Given the description of an element on the screen output the (x, y) to click on. 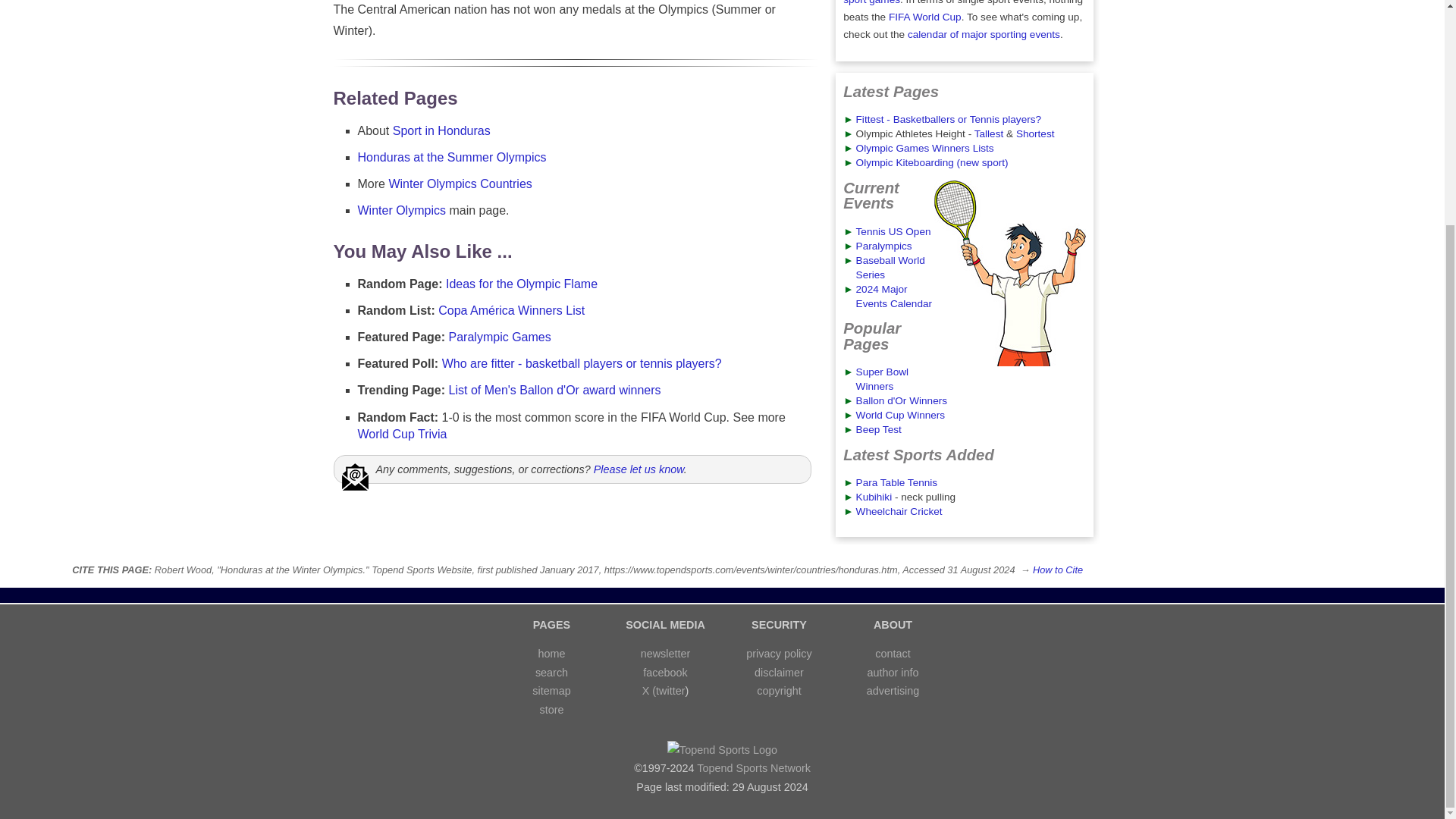
Olympic Games Winners Lists (925, 147)
Shortest (1035, 133)
multi-sport games (952, 2)
Paralympics (884, 245)
World Cup Trivia (402, 433)
Please let us know (639, 469)
Who are fitter - basketball players or tennis players? (582, 363)
World Cup Winners (900, 414)
Baseball World Series (890, 267)
calendar of major sporting events (983, 34)
